Given the description of an element on the screen output the (x, y) to click on. 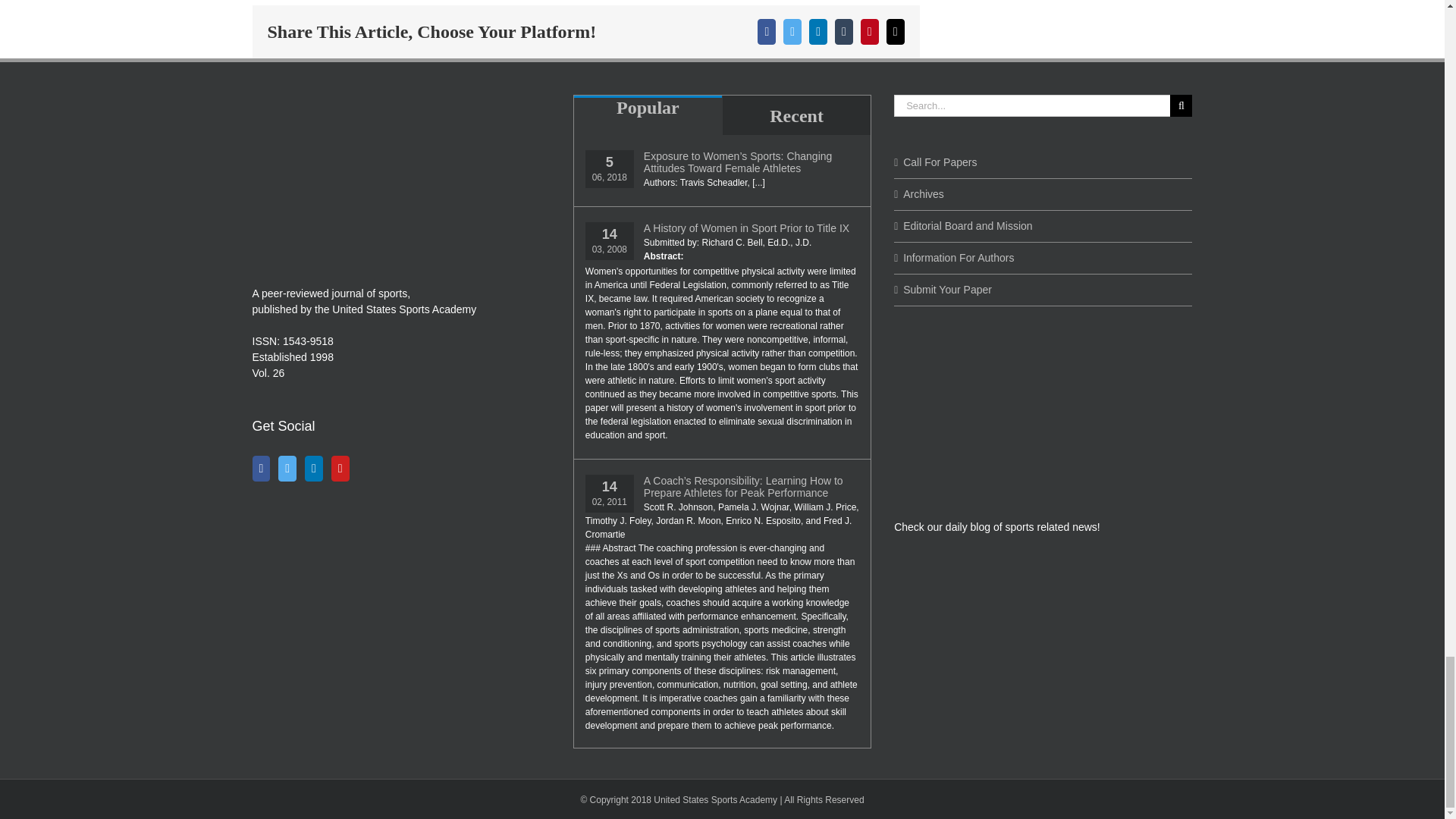
Call For Papers (1043, 162)
A History of Women in Sport Prior to Title IX (751, 227)
Recent (796, 114)
Archives (1043, 194)
Popular (647, 110)
